Given the description of an element on the screen output the (x, y) to click on. 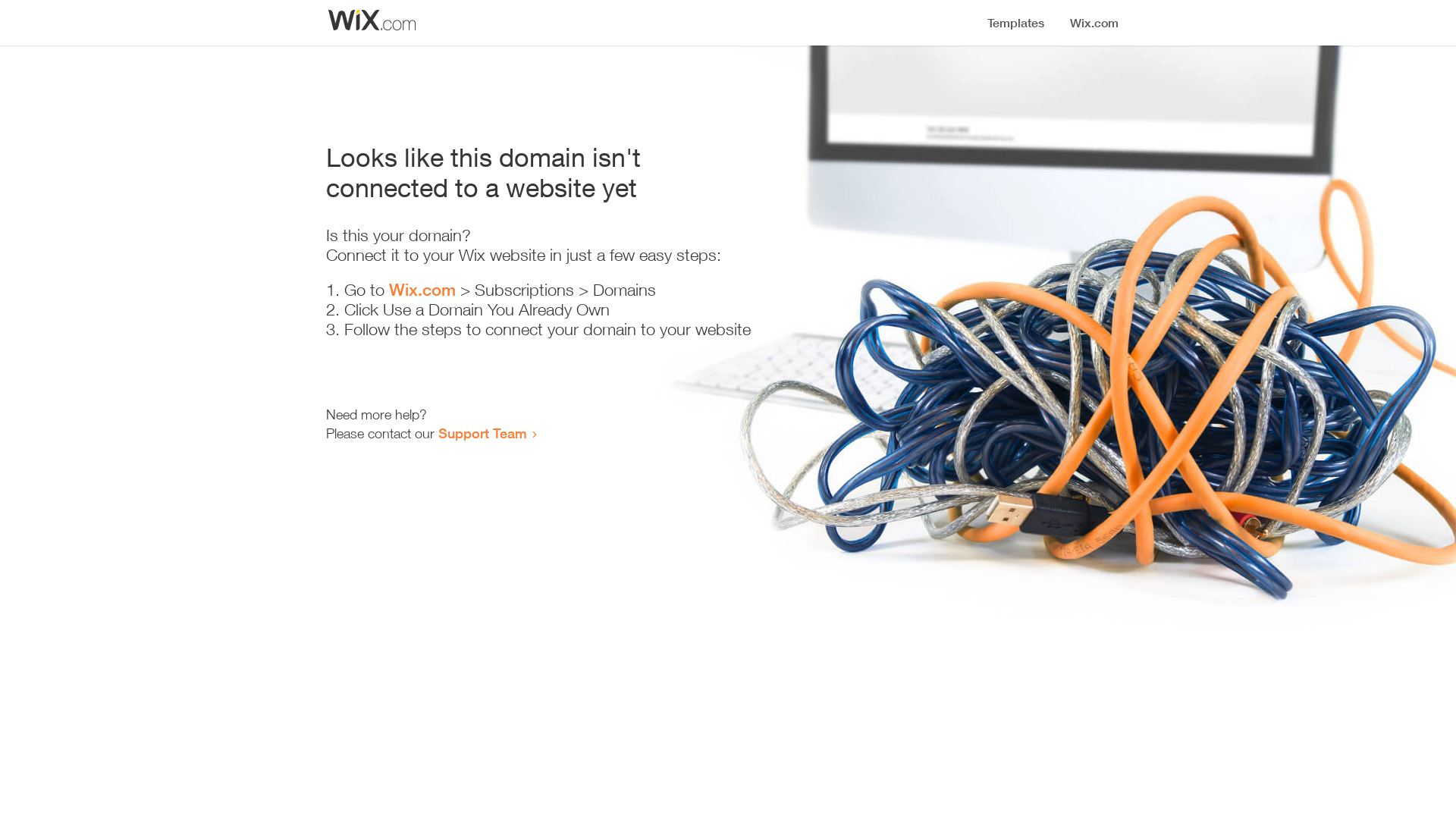
Wix.com Element type: text (422, 289)
Support Team Element type: text (482, 432)
